Given the description of an element on the screen output the (x, y) to click on. 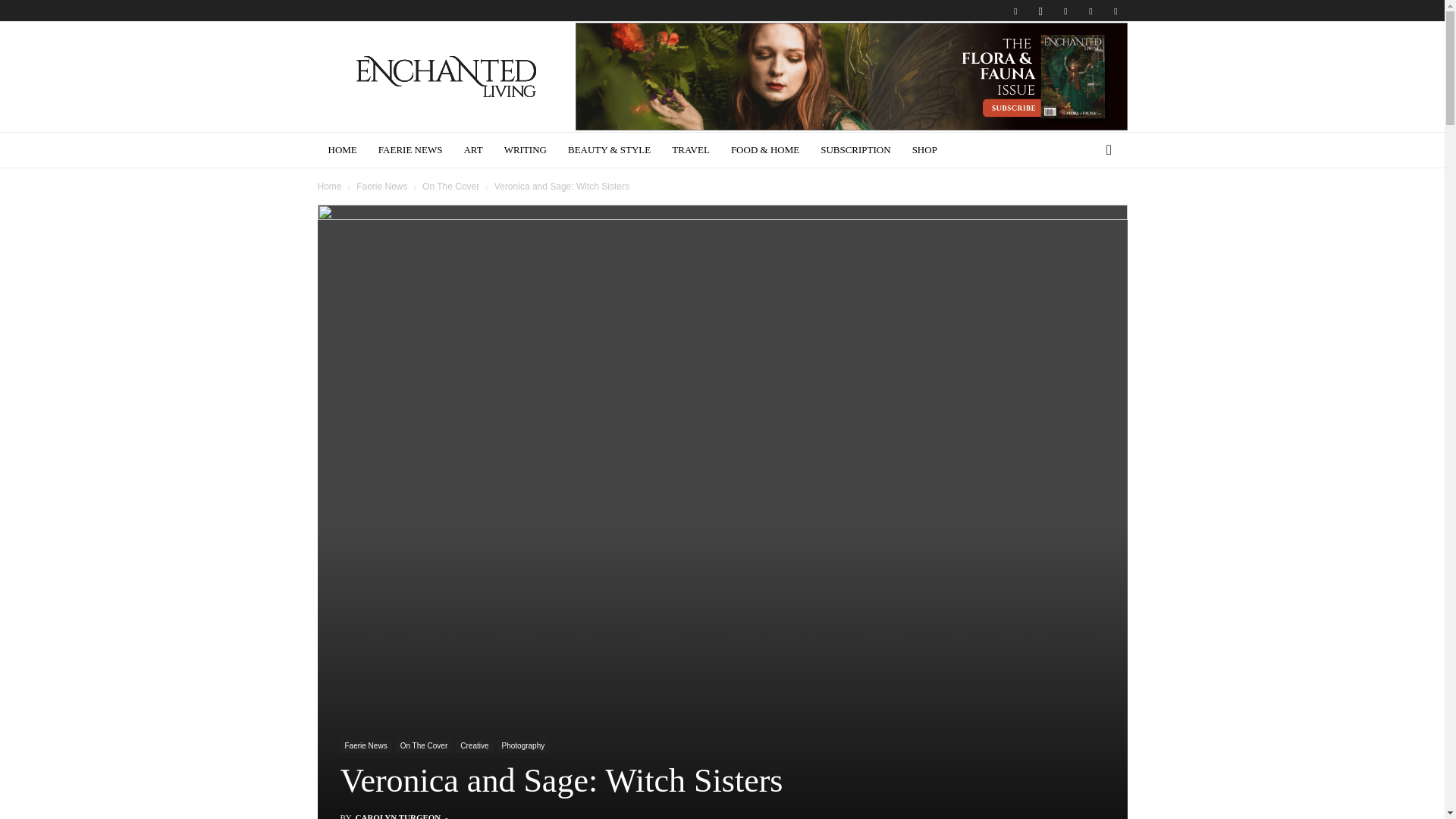
Instagram (1040, 10)
Tumblr (1090, 10)
Twitter (1114, 10)
Celebrate All Things Enchanted (445, 76)
Pinterest (1065, 10)
Facebook (1015, 10)
